Given the description of an element on the screen output the (x, y) to click on. 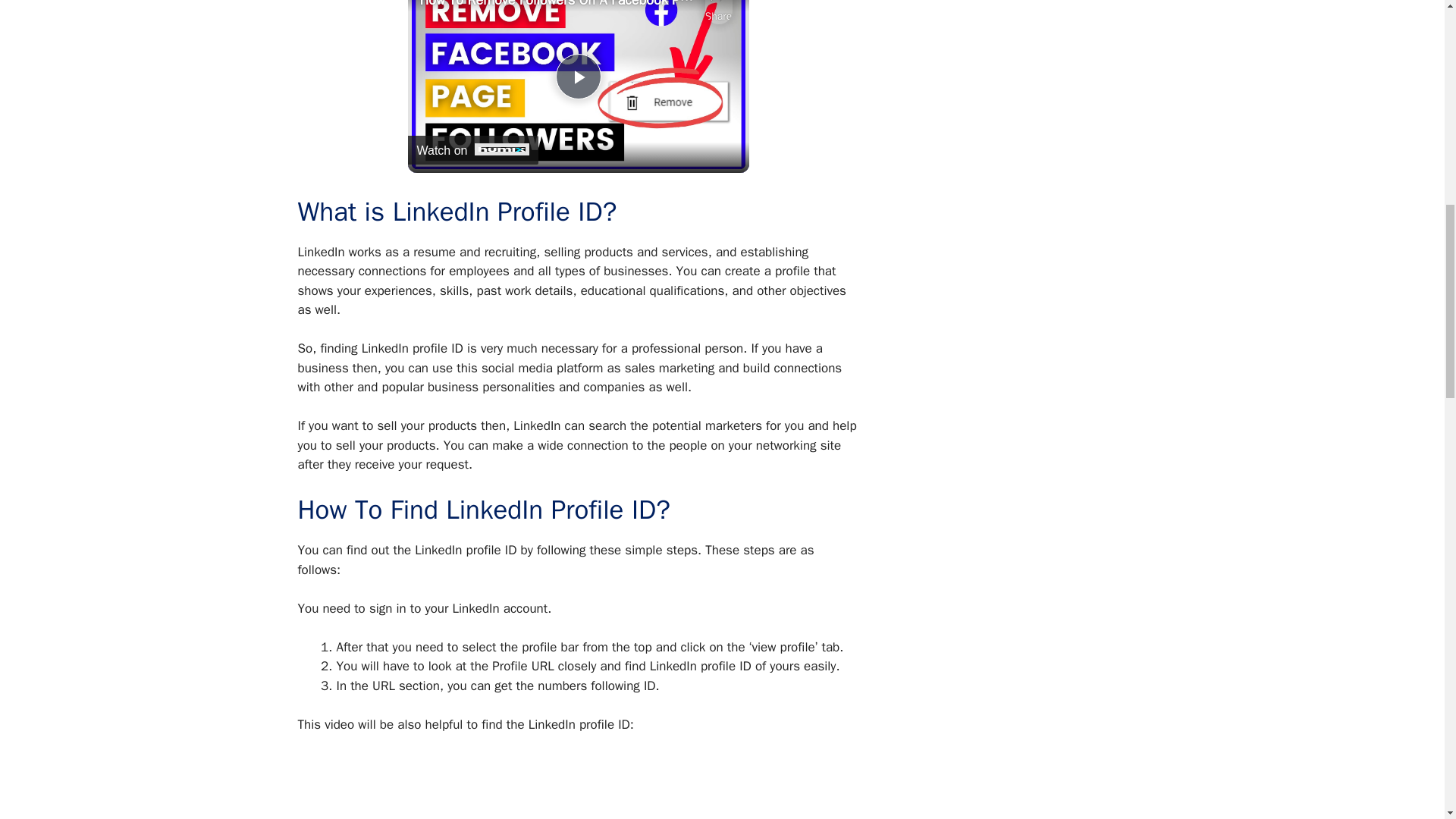
share (718, 11)
Play Video (576, 76)
